Given the description of an element on the screen output the (x, y) to click on. 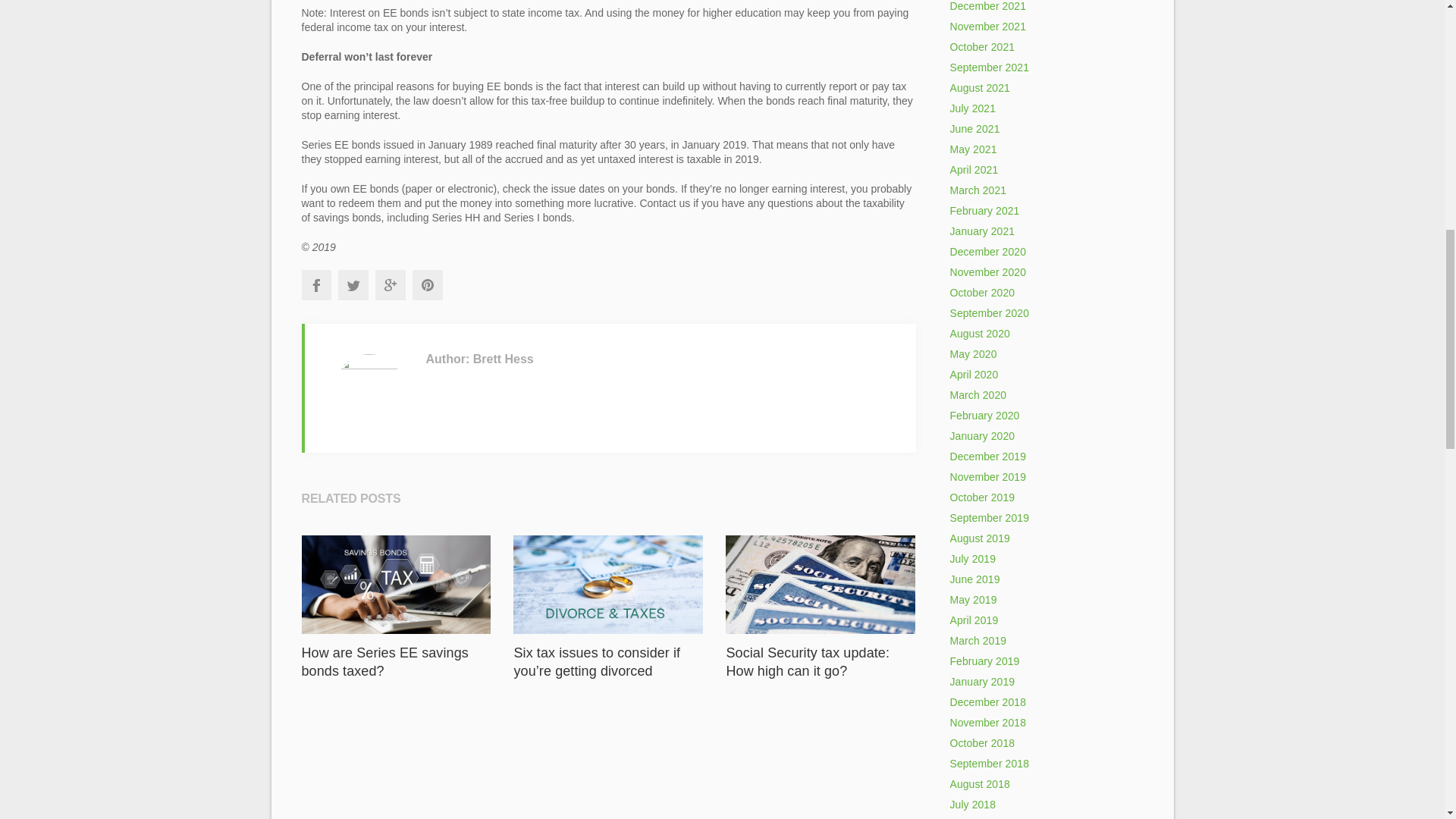
Pinterest (427, 285)
Twitter (352, 285)
Facebook (314, 285)
How are Series EE savings bonds taxed? (384, 661)
